Given the description of an element on the screen output the (x, y) to click on. 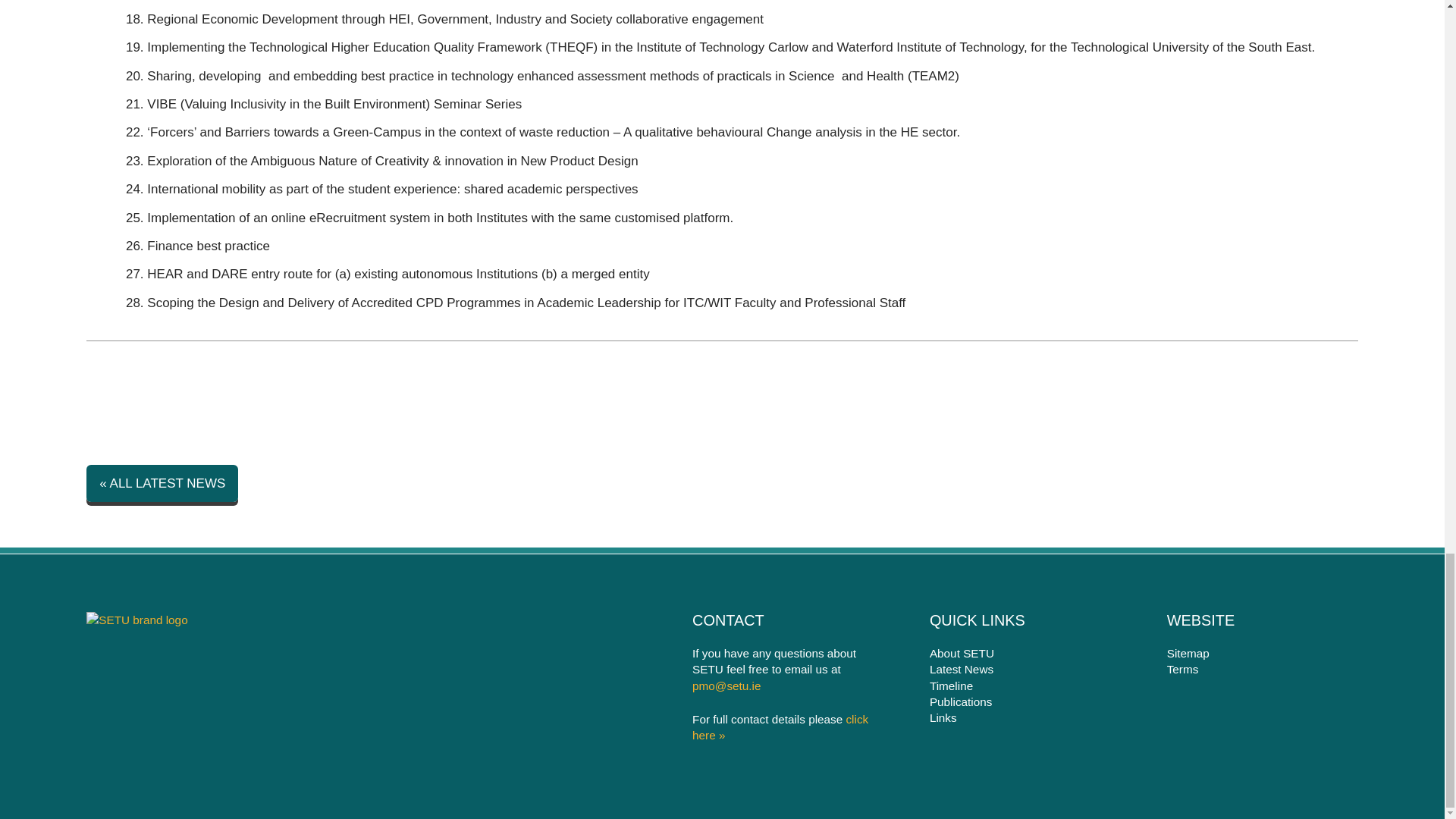
Timeline (1025, 685)
About SETU (1025, 652)
Terms (1262, 668)
Latest News (1025, 668)
Publications (1025, 701)
Links (1025, 717)
Sitemap (1262, 652)
